Given the description of an element on the screen output the (x, y) to click on. 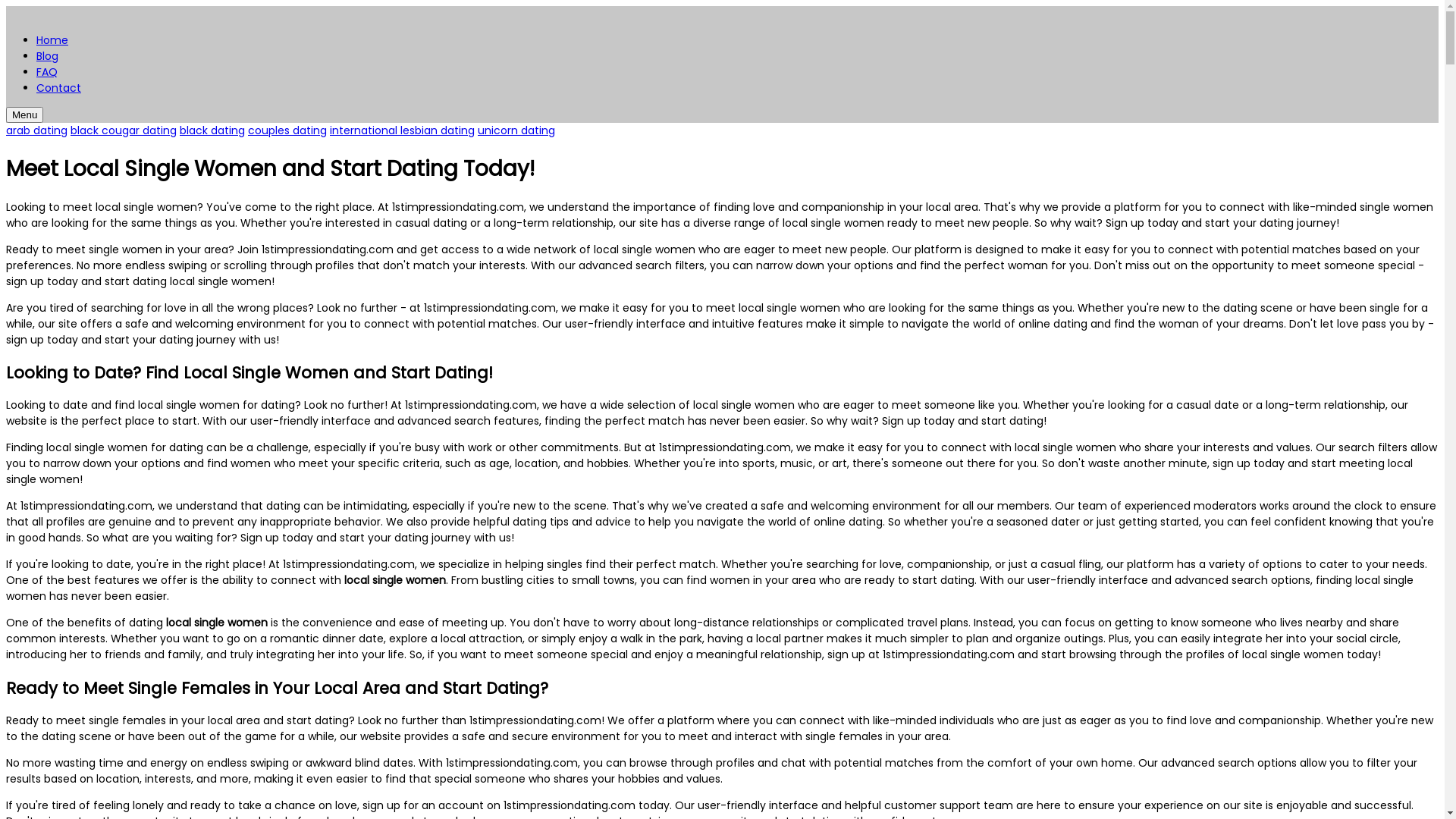
Menu Element type: text (24, 114)
unicorn dating Element type: text (516, 130)
international lesbian dating Element type: text (401, 130)
Home Element type: text (52, 39)
Blog Element type: text (47, 55)
Contact Element type: text (58, 87)
black dating Element type: text (211, 130)
arab dating Element type: text (36, 130)
black cougar dating Element type: text (123, 130)
FAQ Element type: text (46, 71)
couples dating Element type: text (286, 130)
